Given the description of an element on the screen output the (x, y) to click on. 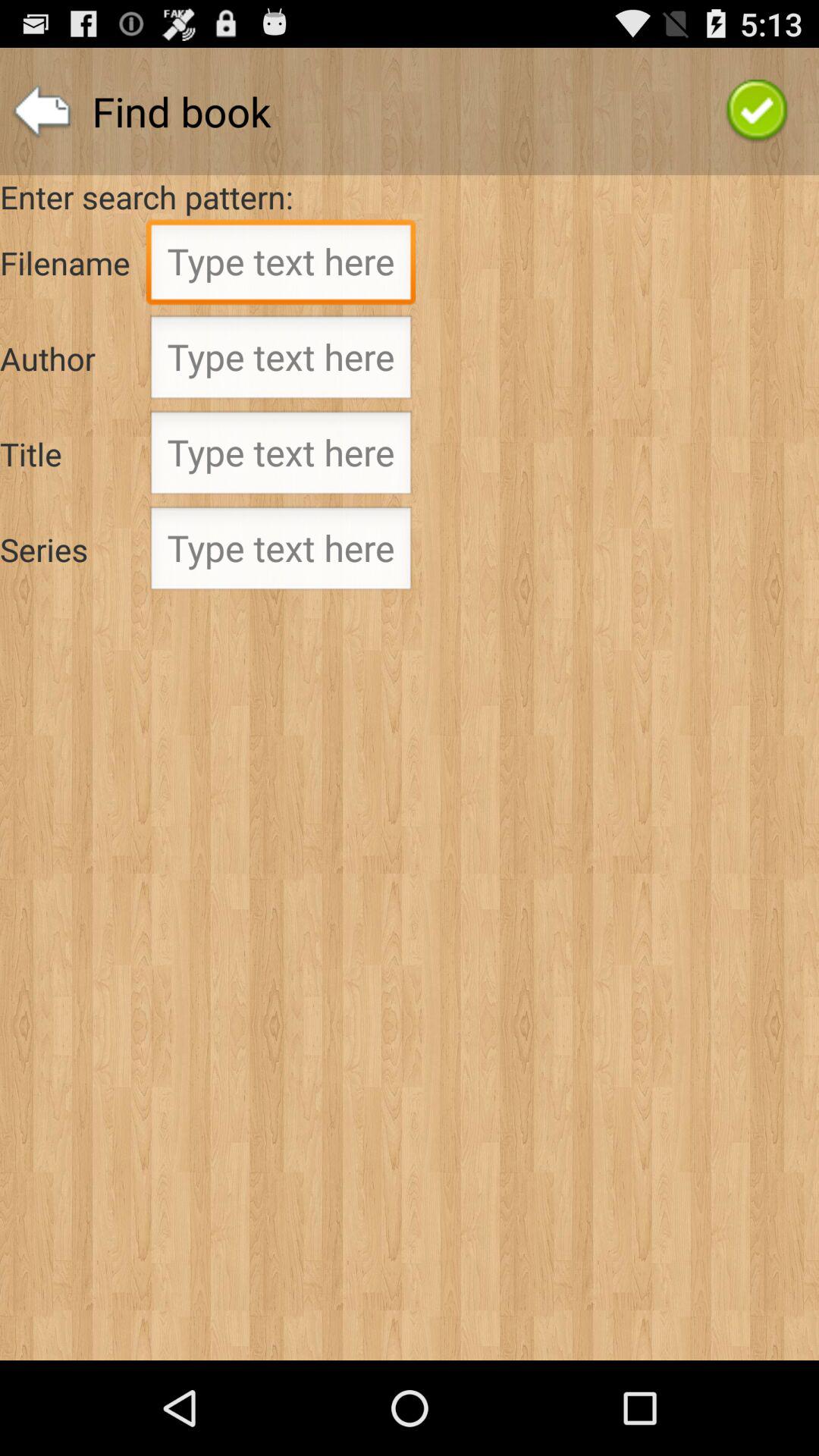
type filename (280, 265)
